Given the description of an element on the screen output the (x, y) to click on. 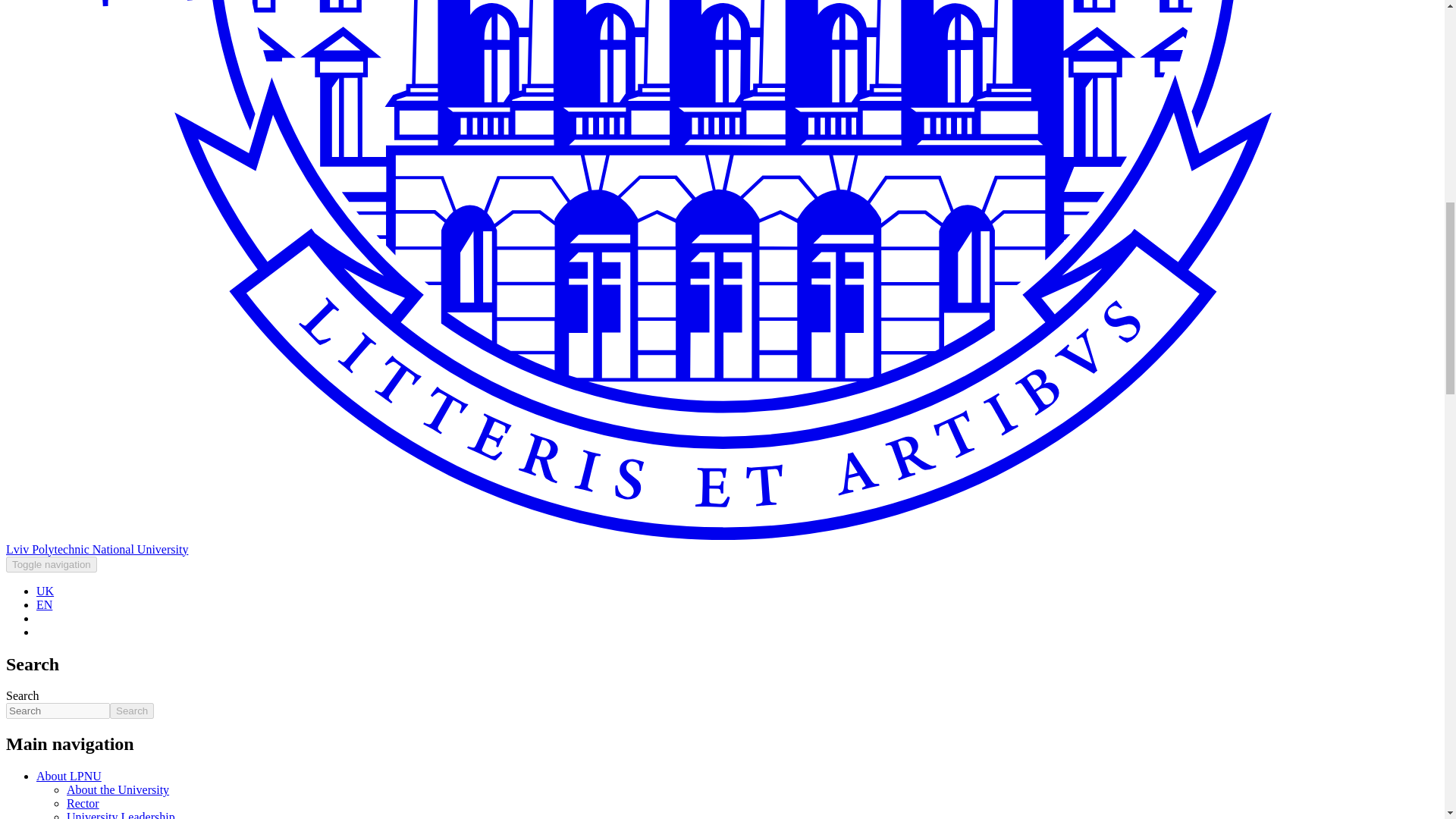
Search (132, 710)
About LPNU (68, 775)
Enter the terms you wish to search for. (57, 710)
University Leadership (120, 814)
UK (44, 590)
Toggle navigation (51, 564)
About the University (117, 789)
Rector (82, 802)
EN (44, 604)
